Given the description of an element on the screen output the (x, y) to click on. 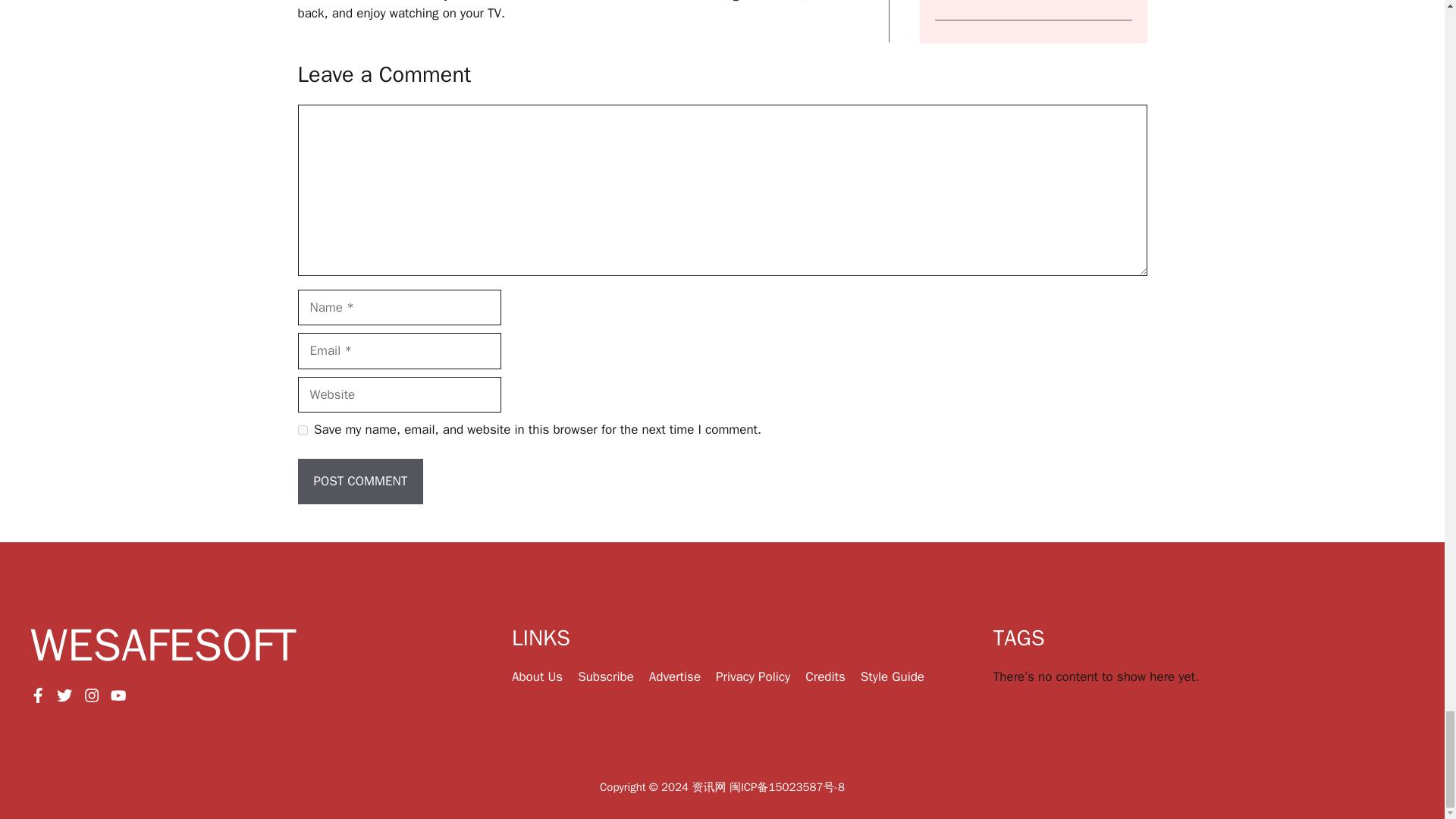
Subscribe (605, 676)
Post Comment (360, 481)
Credits (825, 676)
Post Comment (360, 481)
yes (302, 429)
About Us (537, 676)
Advertise (674, 676)
Style Guide (892, 676)
Privacy Policy (753, 676)
